Given the description of an element on the screen output the (x, y) to click on. 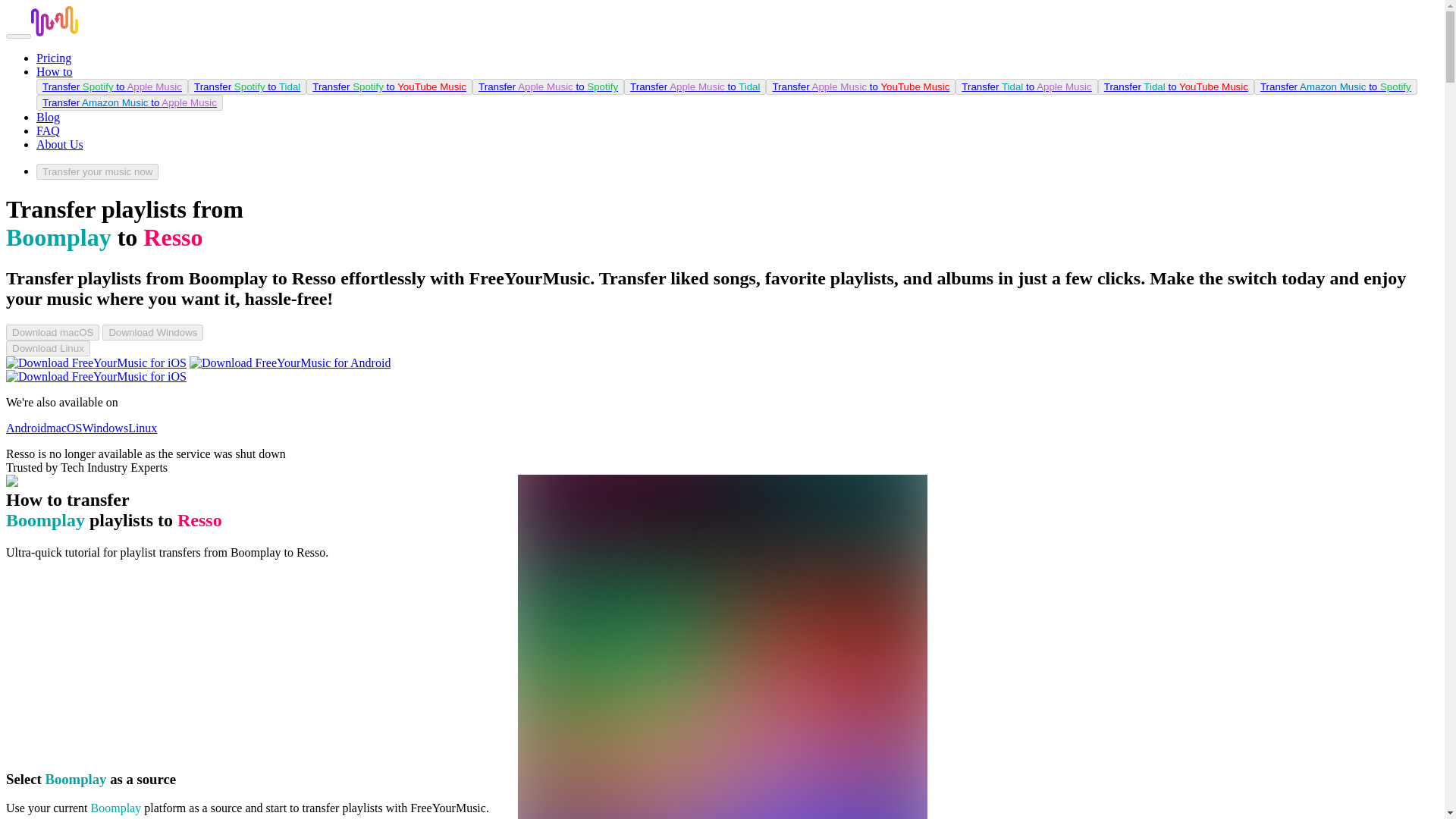
Transfer Tidal to Apple Music (1025, 86)
Download Linux (47, 347)
Transfer Tidal to YouTube Music (1175, 86)
Transfer Amazon Music to Spotify (1334, 86)
Transfer Tidal to Apple Music (1026, 86)
Transfer Apple Music to Spotify (547, 86)
Transfer Spotify to Apple Music (112, 86)
Menu (17, 36)
Transfer Spotify to Tidal (246, 86)
Transfer Tidal to YouTube Music (1175, 86)
